Given the description of an element on the screen output the (x, y) to click on. 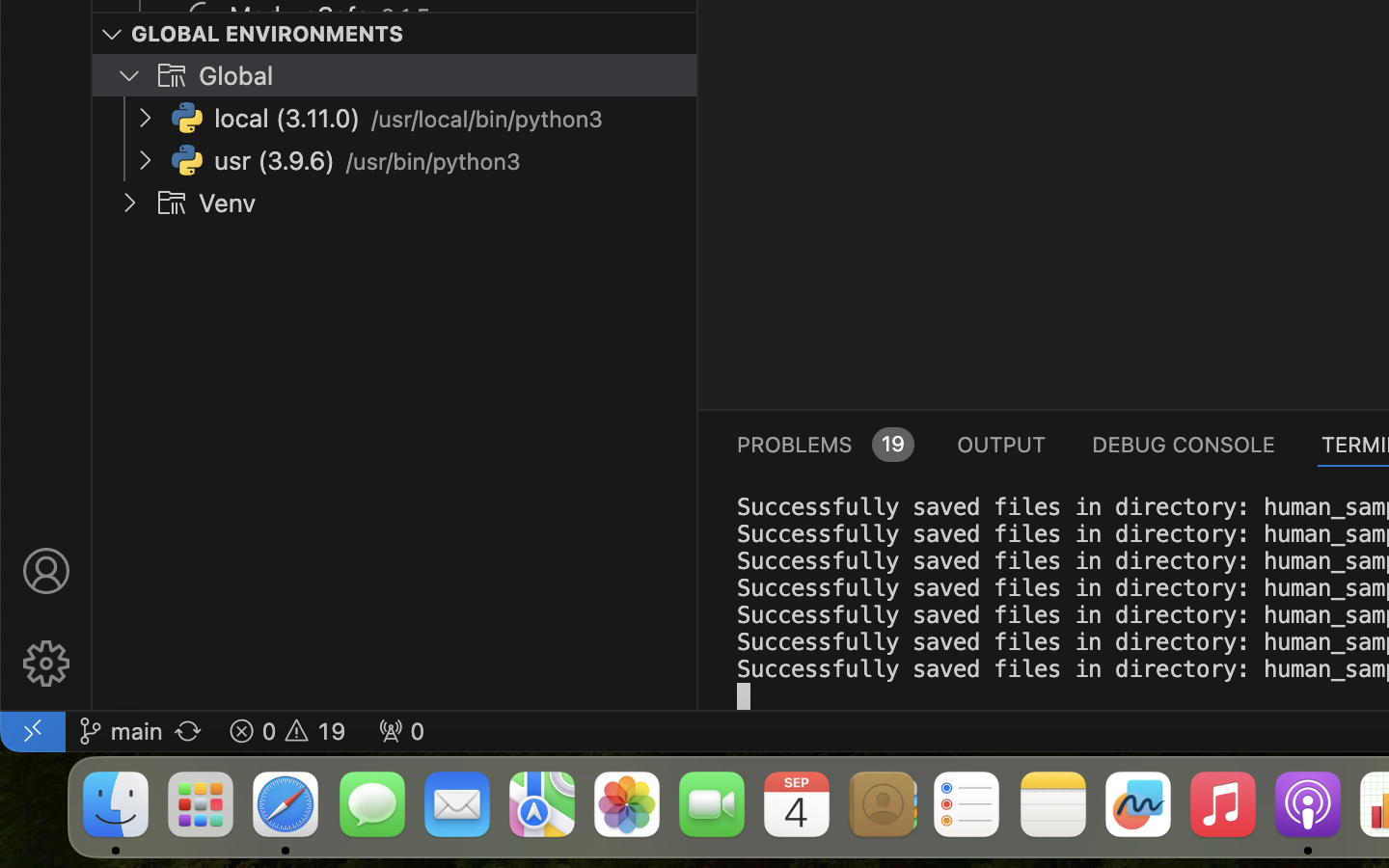
 Element type: AXStaticText (171, 74)
usr (3.9.6) Element type: AXStaticText (274, 160)
main  Element type: AXButton (120, 730)
/usr/local/bin/python3 Element type: AXStaticText (487, 119)
 Element type: AXStaticText (46, 570)
